Given the description of an element on the screen output the (x, y) to click on. 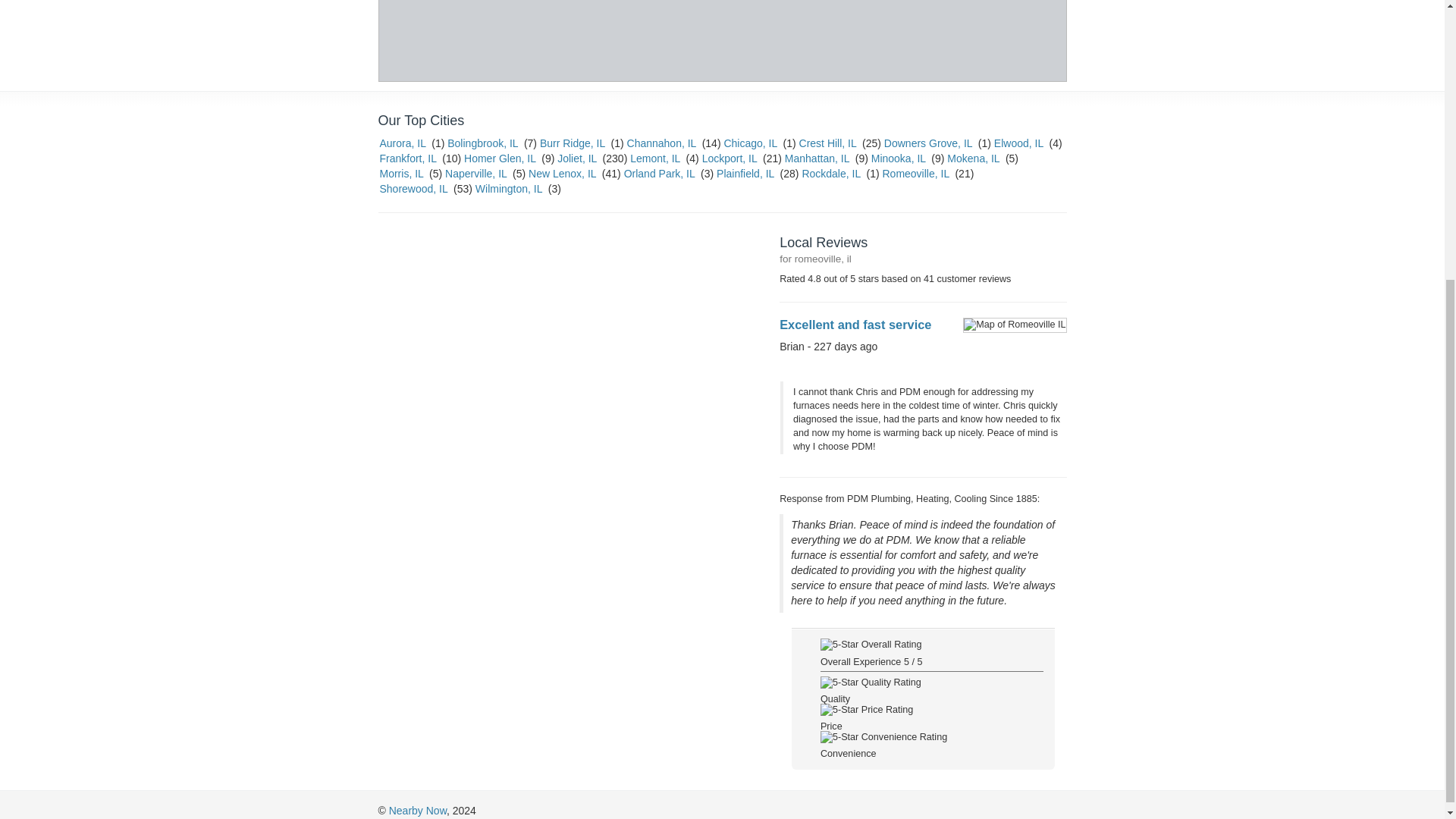
Bolingbrook, IL (482, 143)
Homer Glen, IL (499, 158)
Burr Ridge, IL (572, 143)
Minooka, IL (898, 158)
Manhattan, IL (816, 158)
Lemont, IL (654, 158)
Channahon, IL (661, 143)
Crest Hill, IL (828, 143)
5-Star Quality Rating (871, 682)
Nearby Now (417, 810)
